Given the description of an element on the screen output the (x, y) to click on. 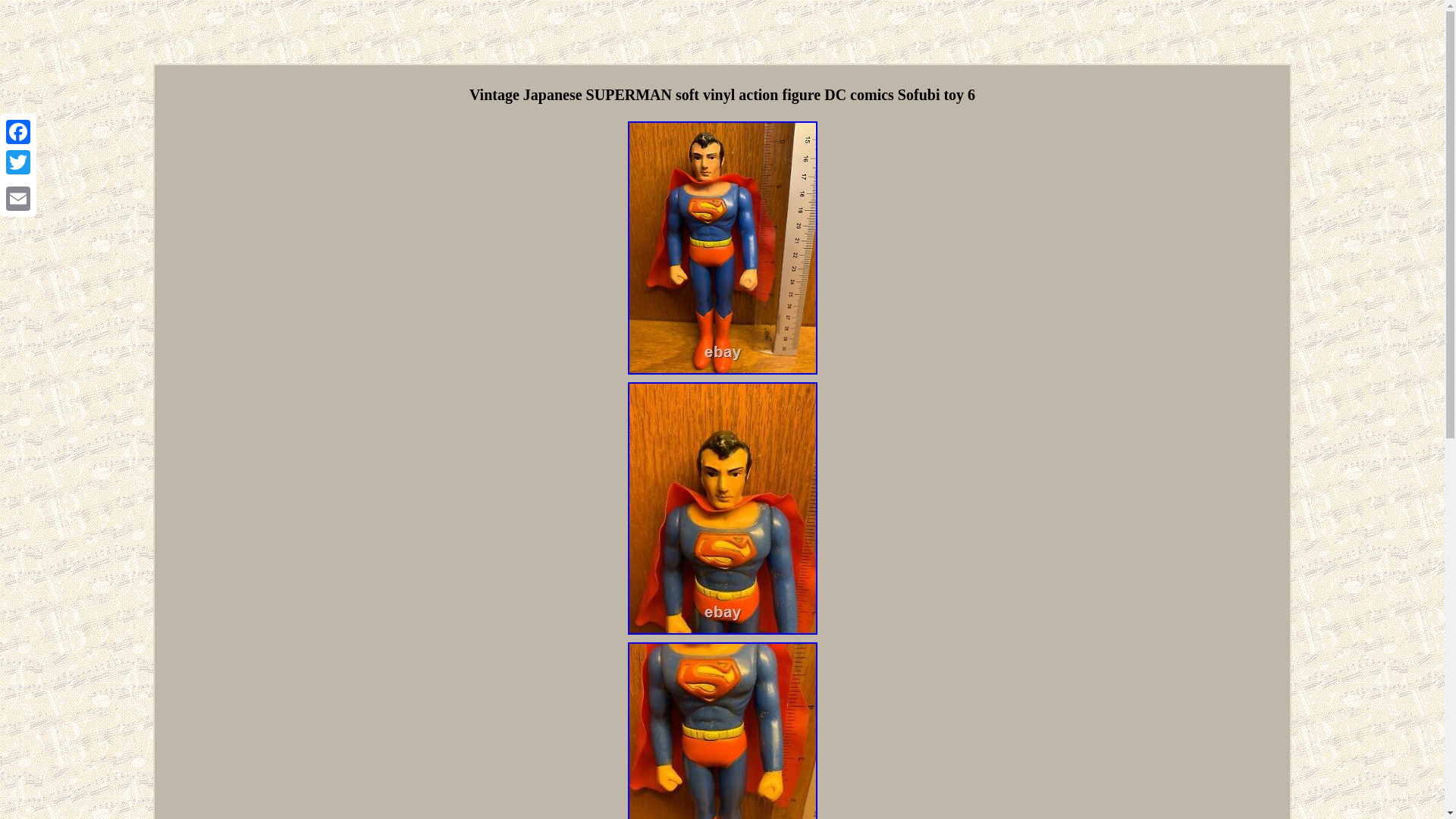
Facebook (17, 132)
Email (17, 198)
Twitter (17, 162)
